Given the description of an element on the screen output the (x, y) to click on. 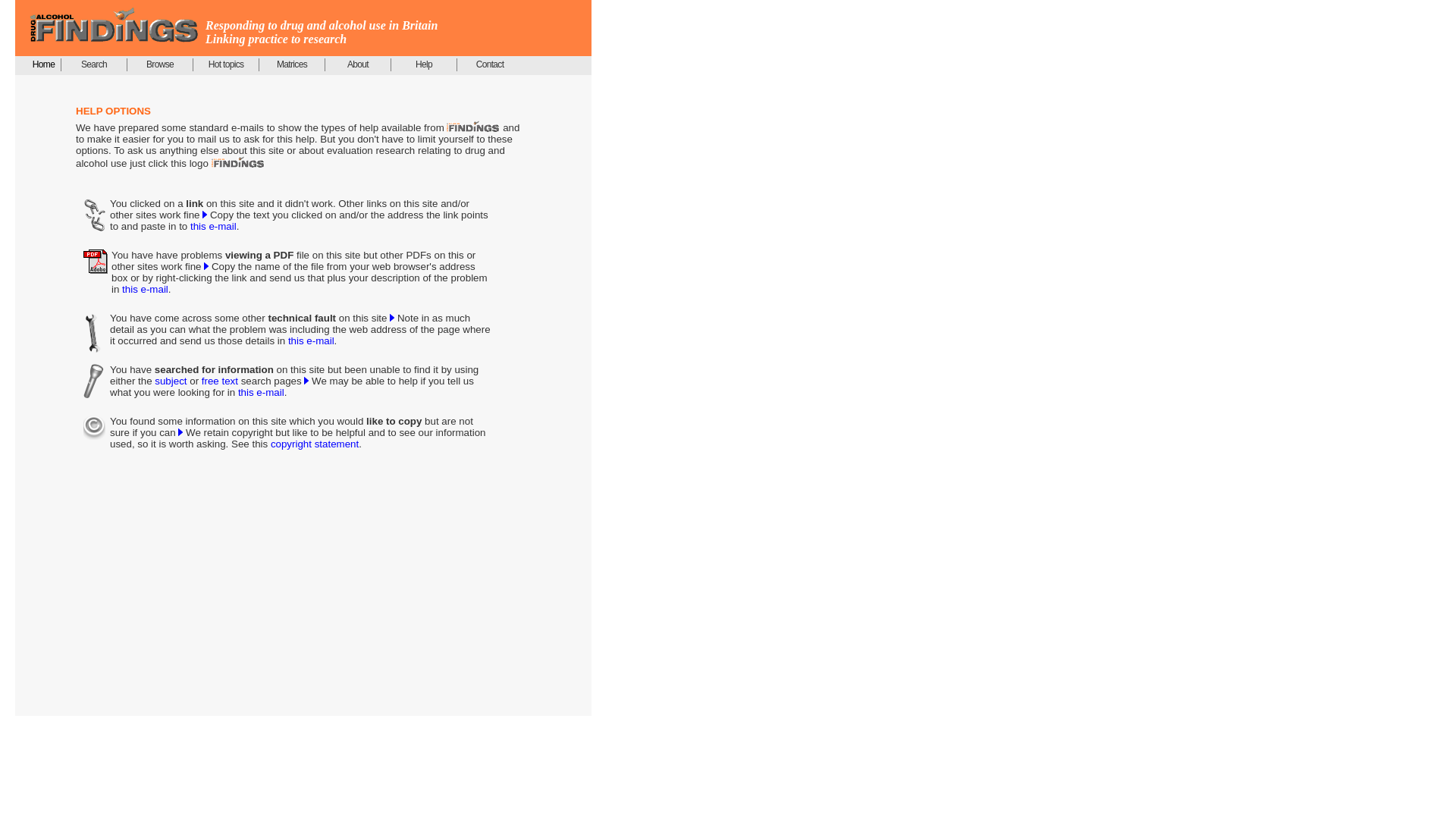
How to find the research you are looking for (94, 64)
free text (220, 380)
this e-mail (311, 340)
Browse through our research analysis and magazine (160, 64)
About the Drug and Alcohol Findings Effectiveness Bank (357, 64)
Effectiveness Bank home page. Opens new window (43, 64)
Seminal and key treatment research (291, 64)
subject (170, 380)
Important and controversial issues (226, 64)
this e-mail (260, 392)
this e-mail (145, 288)
copyright statement (314, 443)
this e-mail (212, 225)
Home (43, 64)
